Given the description of an element on the screen output the (x, y) to click on. 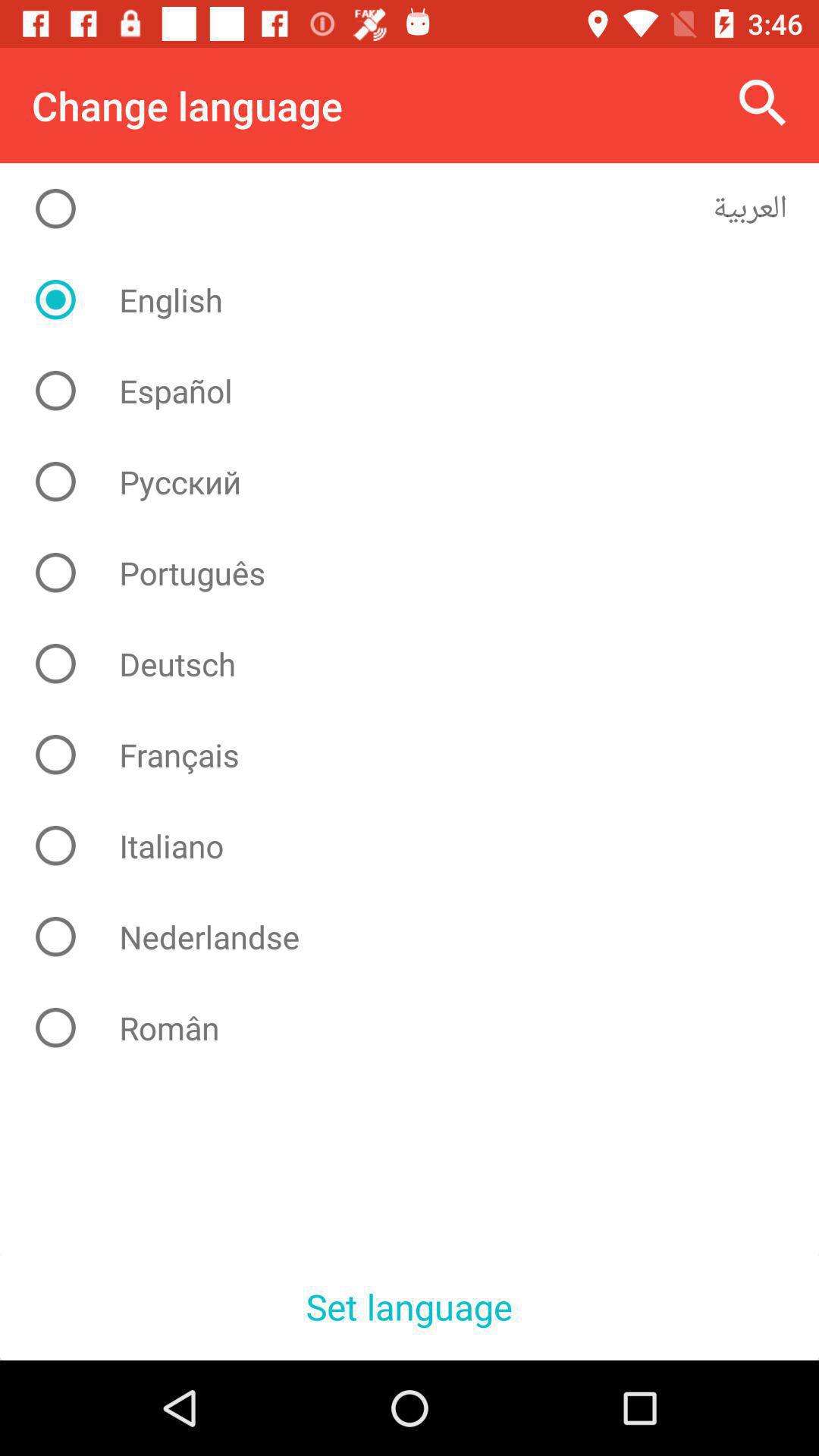
open item above deutsch icon (421, 572)
